Given the description of an element on the screen output the (x, y) to click on. 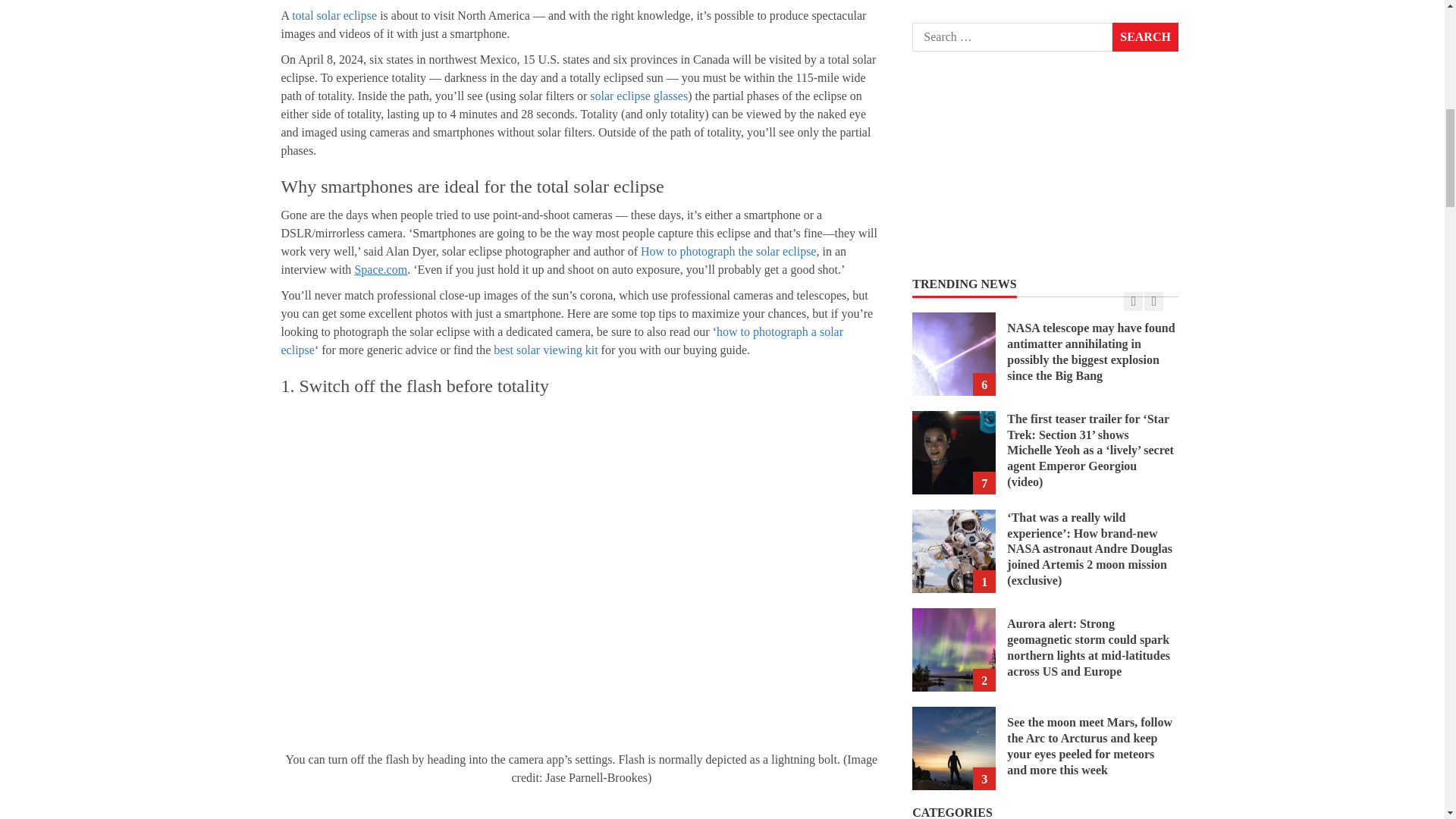
solar eclipse glasses (638, 95)
total solar eclipse (334, 15)
